Given the description of an element on the screen output the (x, y) to click on. 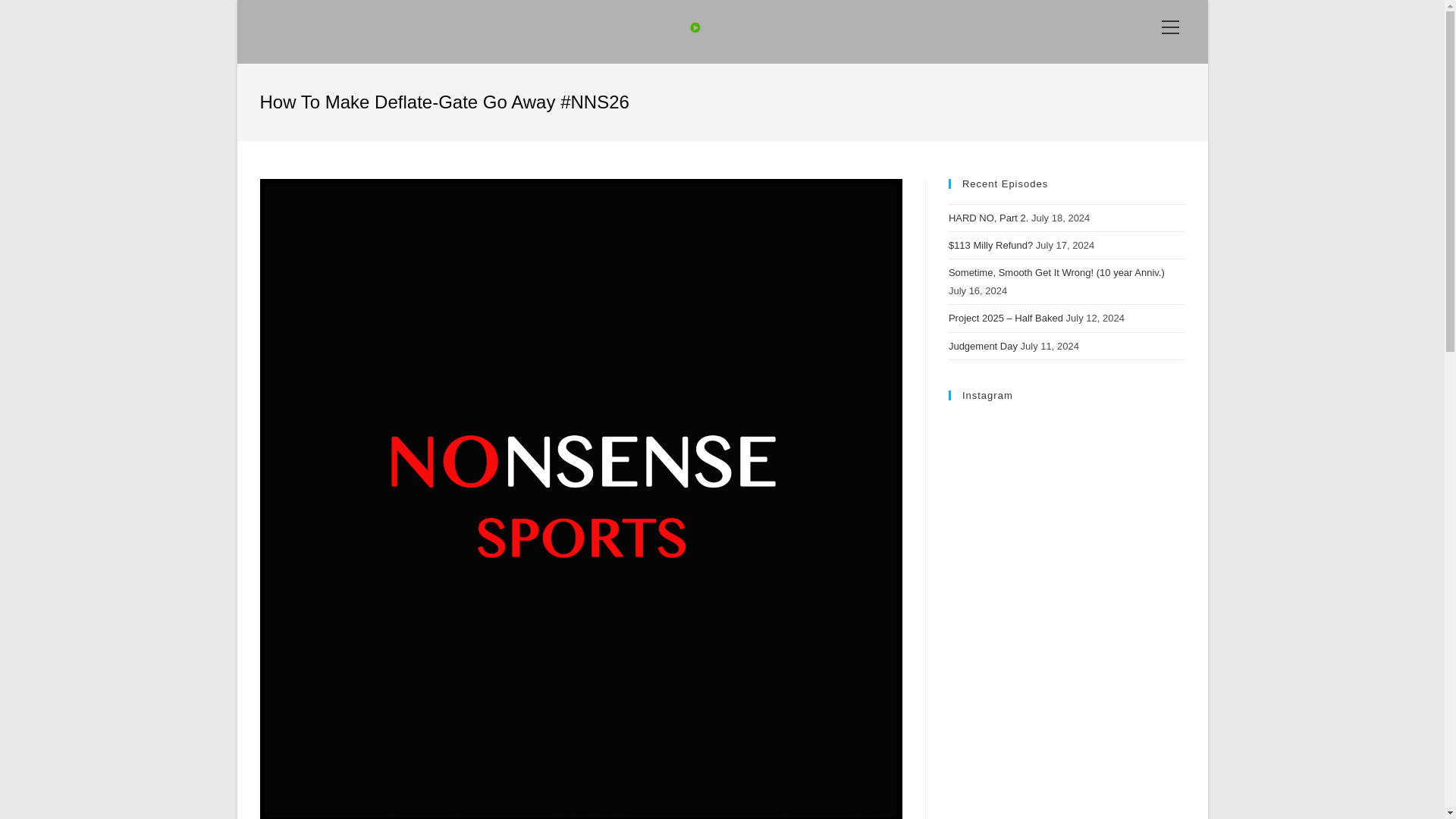
View website Menu (1170, 27)
